Given the description of an element on the screen output the (x, y) to click on. 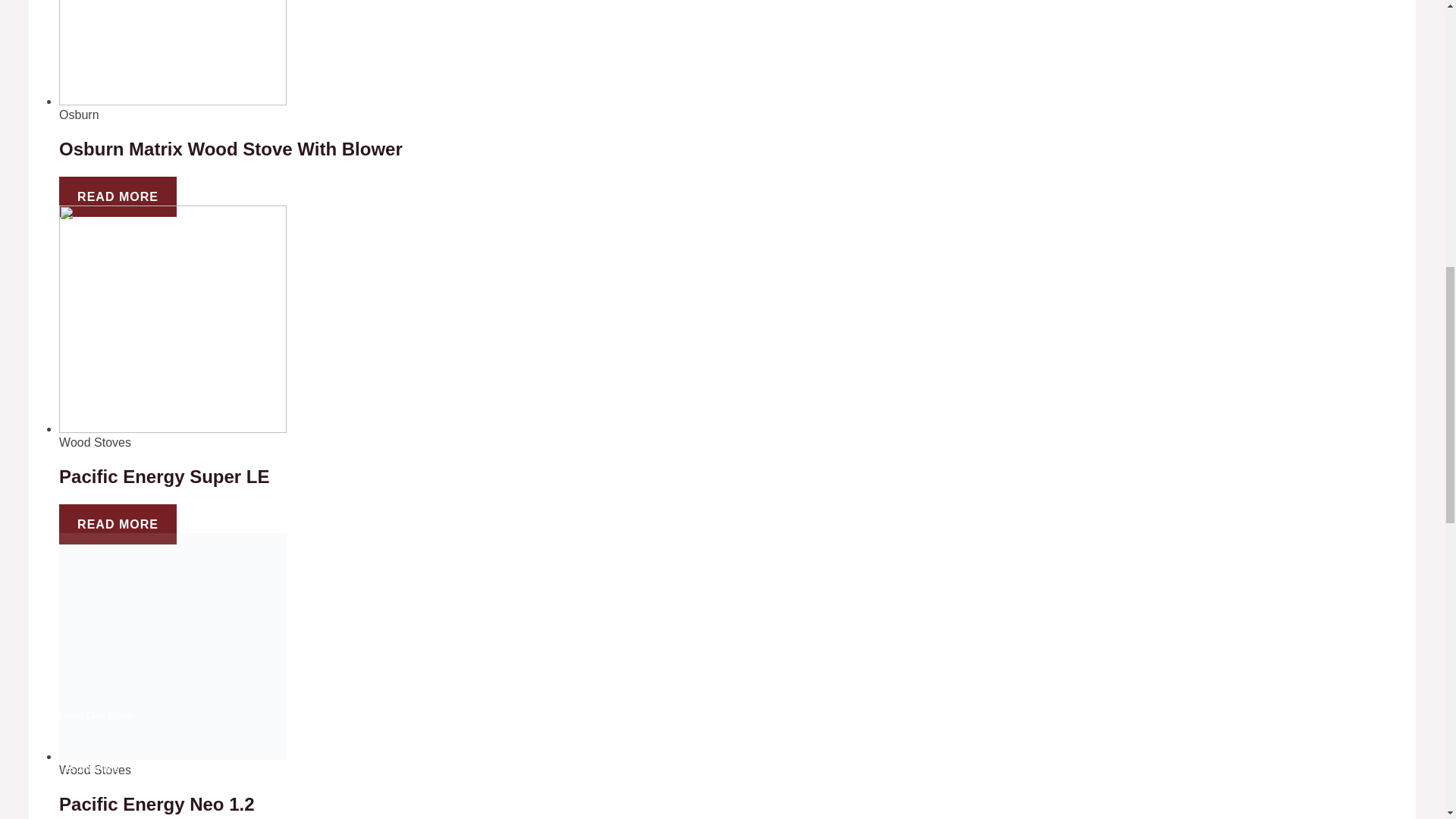
Testimonials (89, 767)
Meet Our Crew (96, 715)
Service Areas (92, 816)
